Given the description of an element on the screen output the (x, y) to click on. 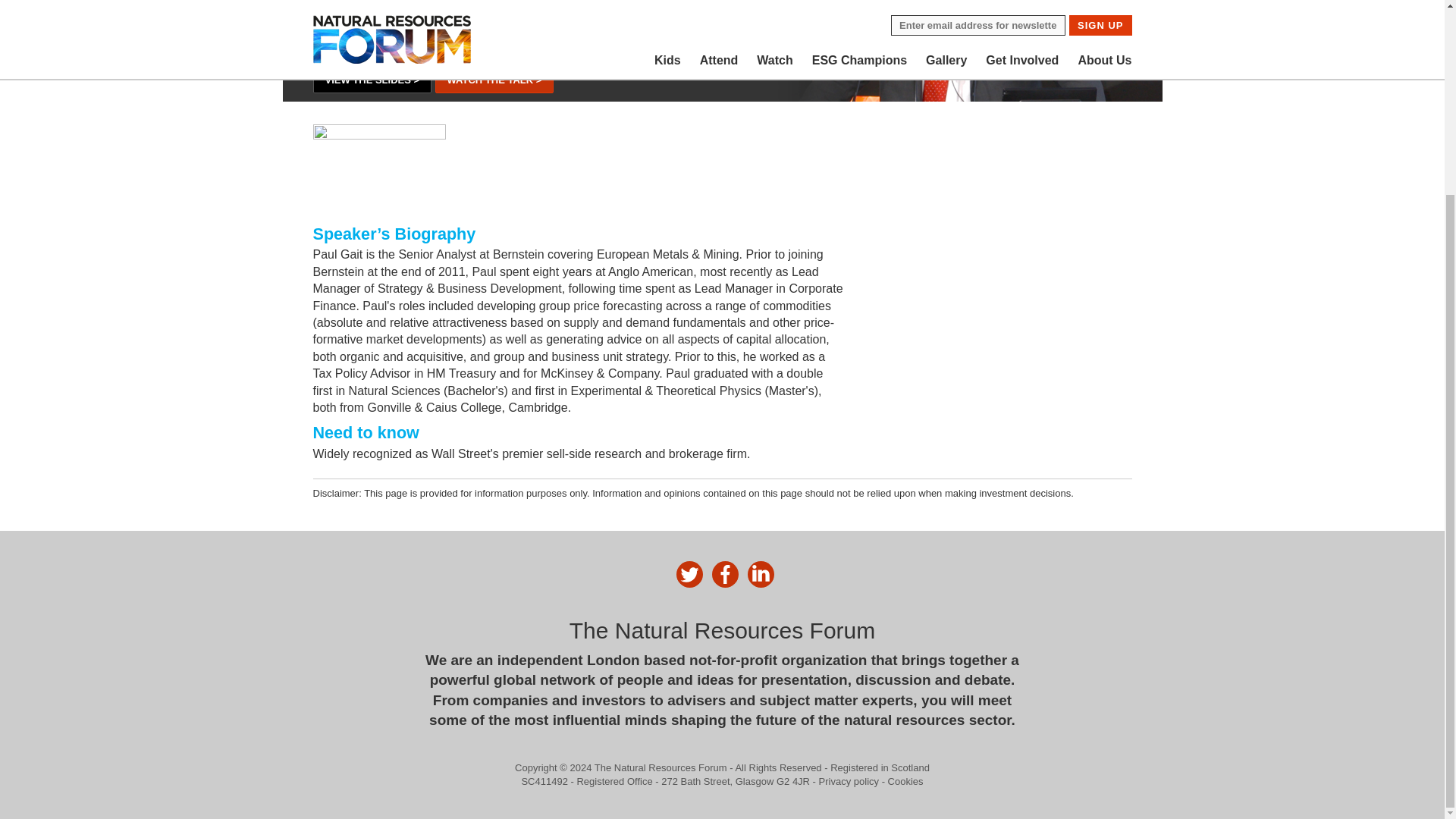
Facebook (724, 574)
Cookies (905, 781)
Privacy policy (848, 781)
LinkedIn (761, 574)
Twitter (690, 574)
